Given the description of an element on the screen output the (x, y) to click on. 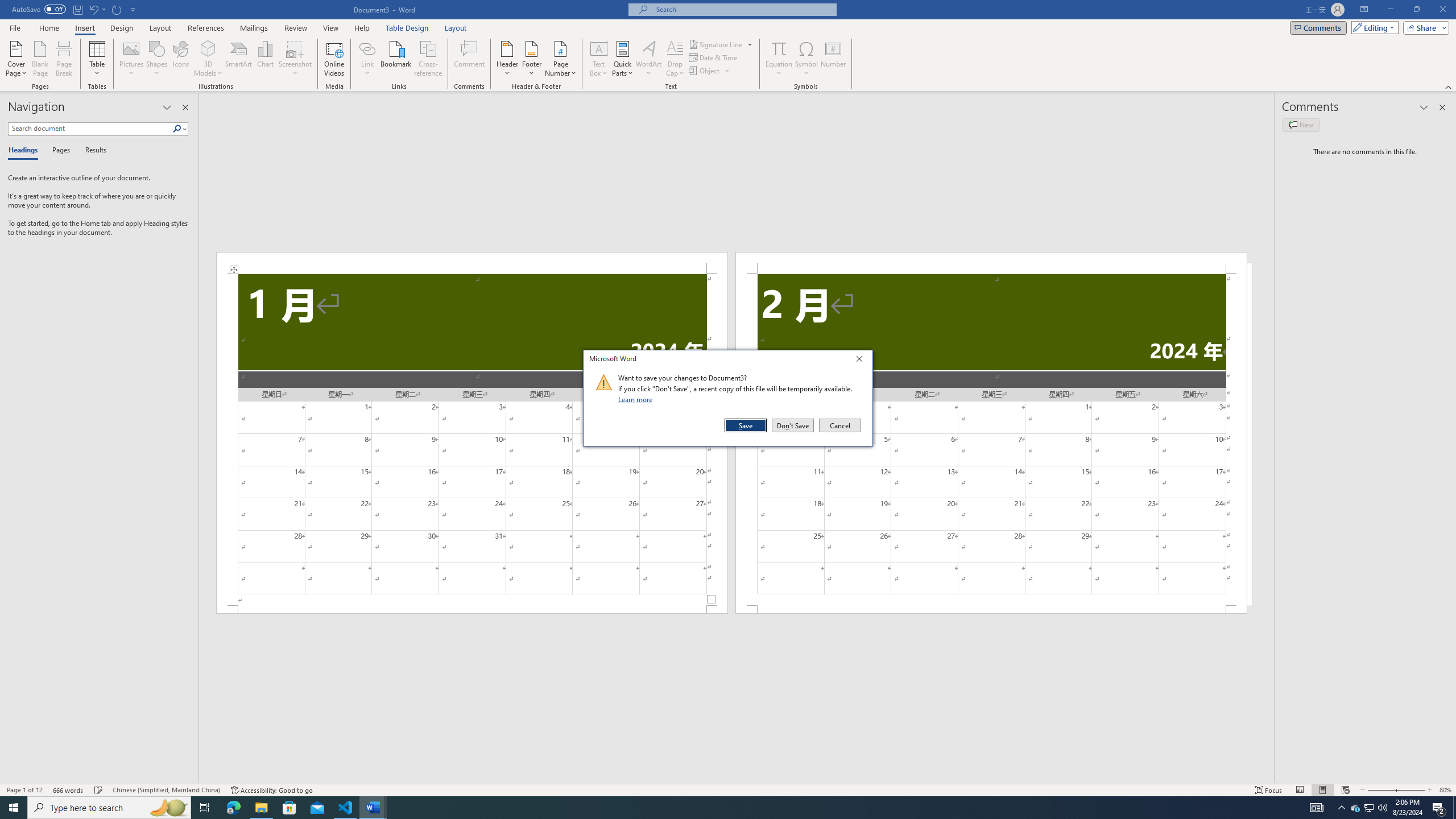
Header -Section 2- (991, 263)
Link (367, 48)
Cover Page (16, 58)
Cross-reference... (428, 58)
